Given the description of an element on the screen output the (x, y) to click on. 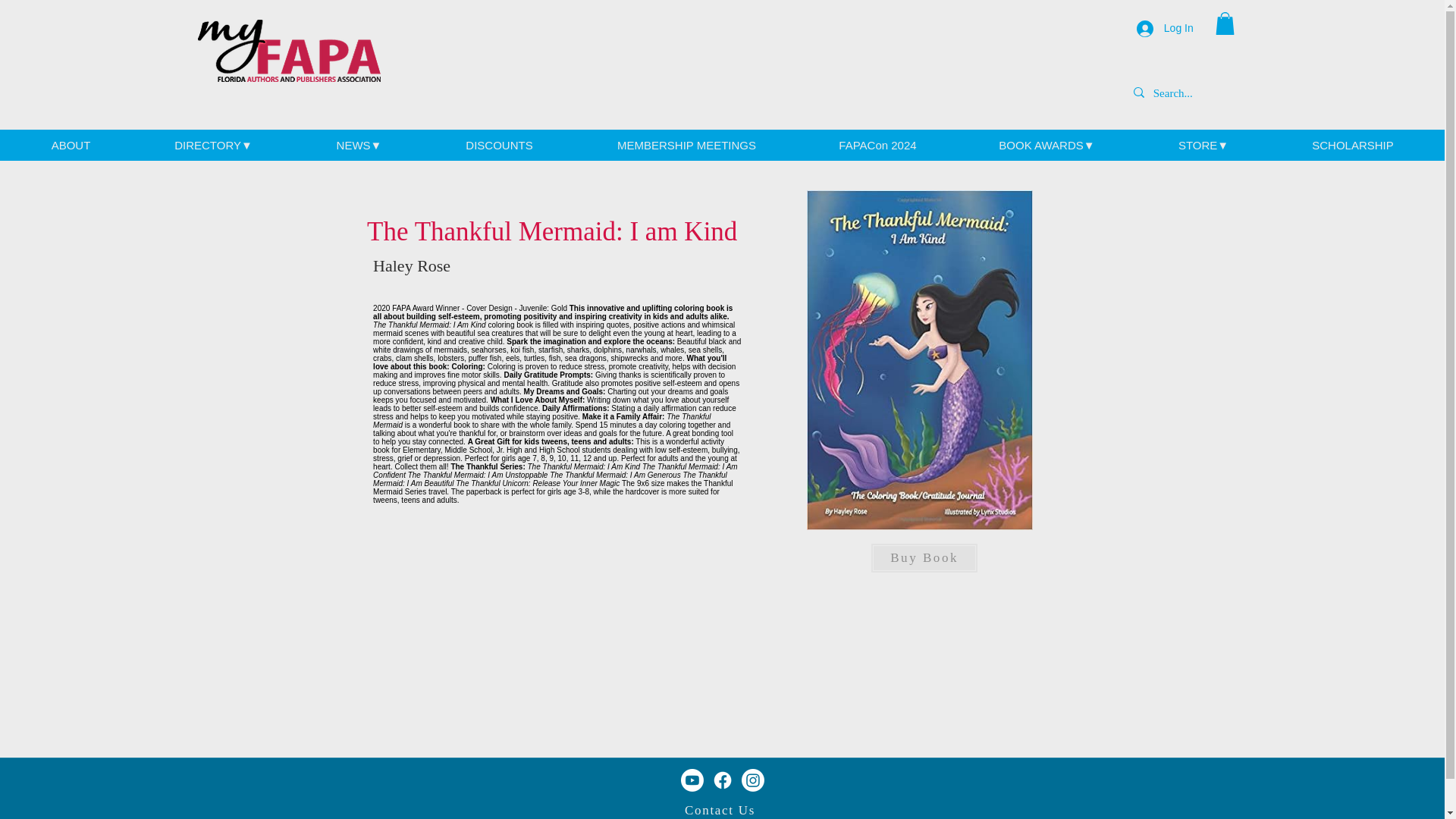
Log In (1164, 28)
SCHOLARSHIP (1352, 145)
MEMBERSHIP MEETINGS (686, 145)
DISCOUNTS (499, 145)
FAPACon 2024 (876, 145)
Buy Book (924, 557)
Buy Book (924, 448)
ABOUT (70, 145)
